Given the description of an element on the screen output the (x, y) to click on. 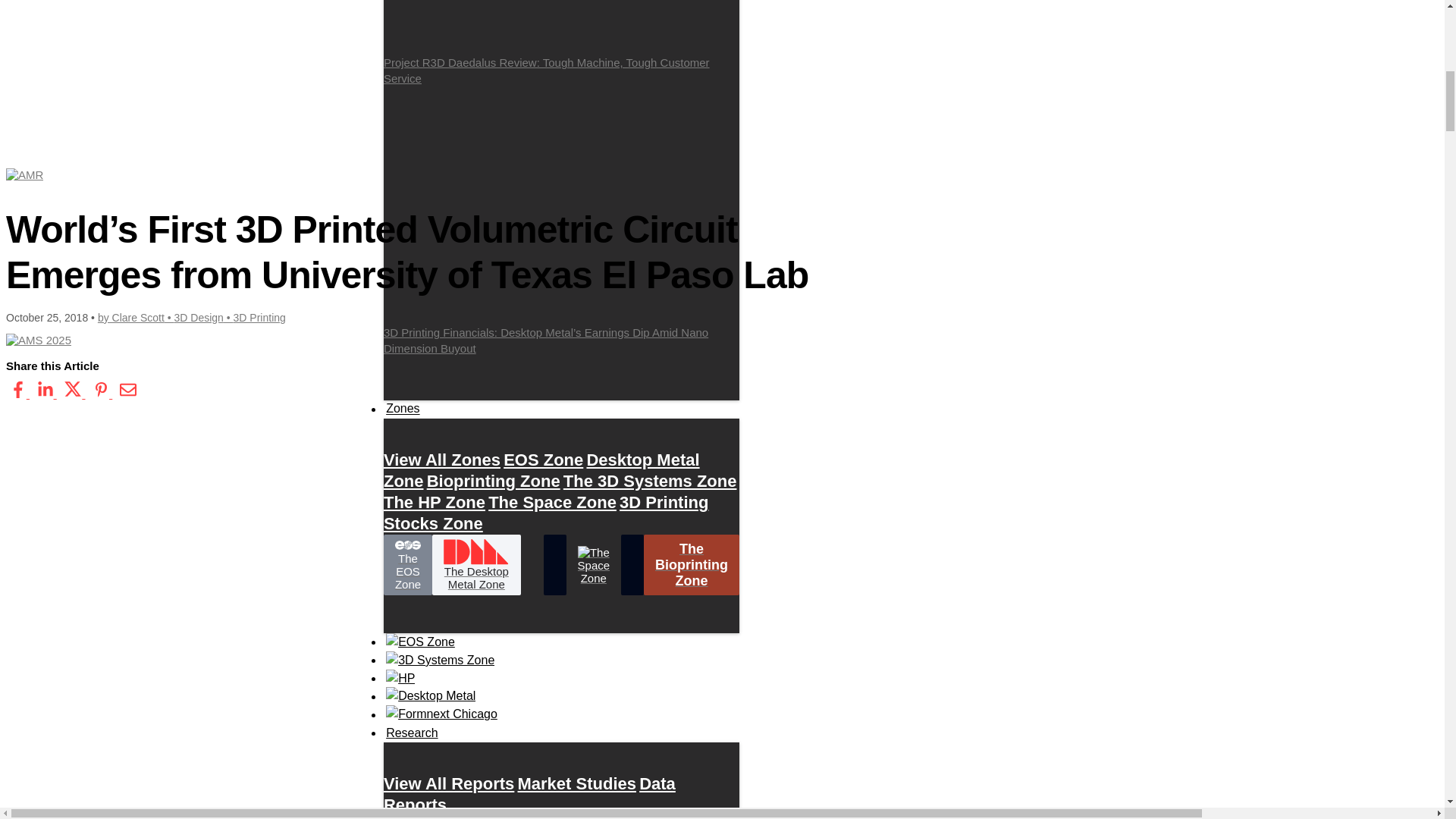
View All Zones (442, 459)
Zones (403, 408)
EOS Zone (543, 459)
Bioprinting Zone (493, 480)
Desktop Metal Zone (542, 470)
The HP Zone (434, 502)
The Desktop Metal Zone (475, 564)
3D Printing Stocks Zone (545, 512)
The Space Zone (551, 502)
The 3D Systems Zone (649, 480)
